Given the description of an element on the screen output the (x, y) to click on. 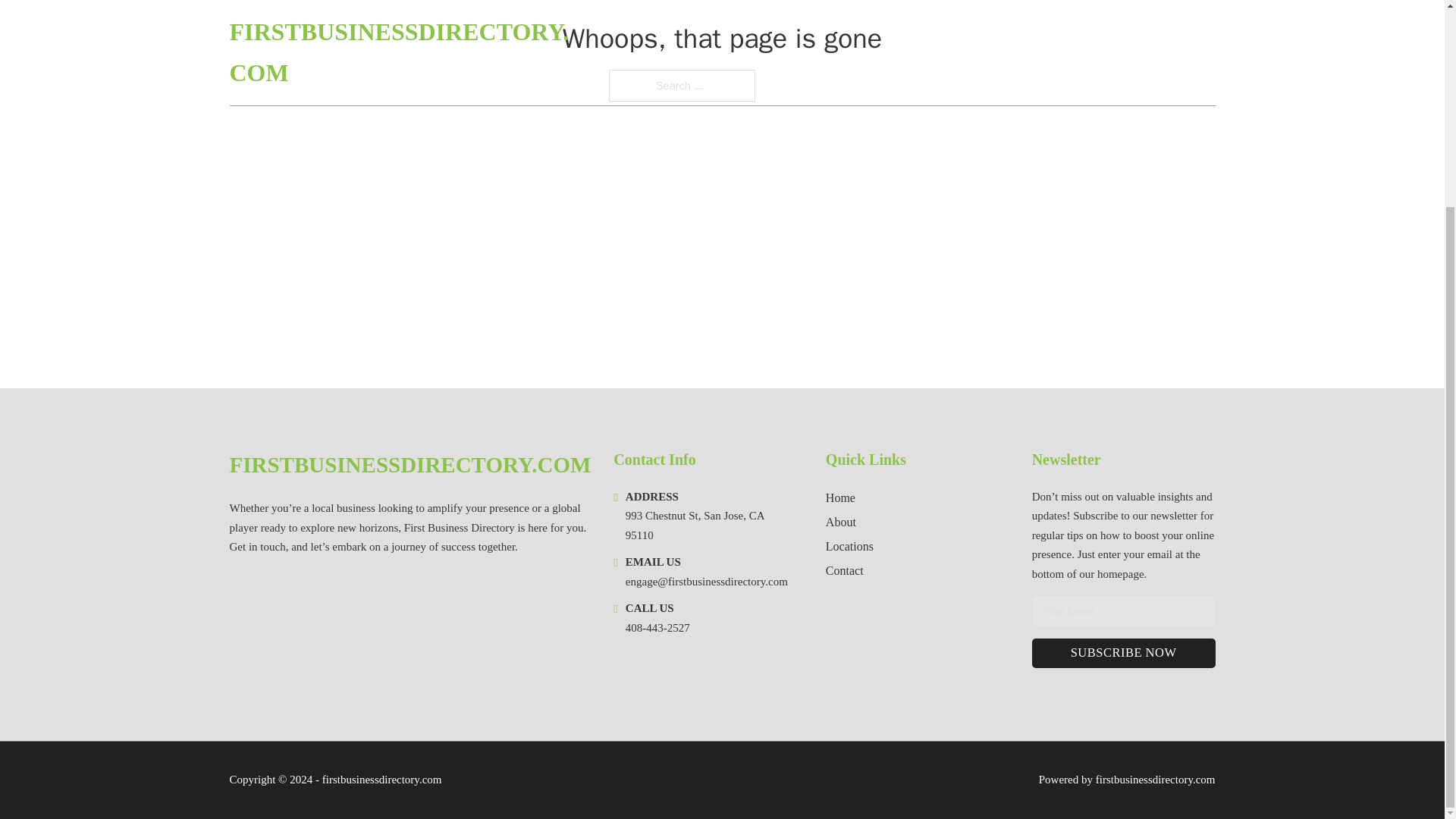
Home (840, 497)
About (840, 521)
Contact (844, 570)
SUBSCRIBE NOW (1123, 653)
408-443-2527 (658, 627)
Locations (849, 546)
FIRSTBUSINESSDIRECTORY.COM (409, 465)
